Given the description of an element on the screen output the (x, y) to click on. 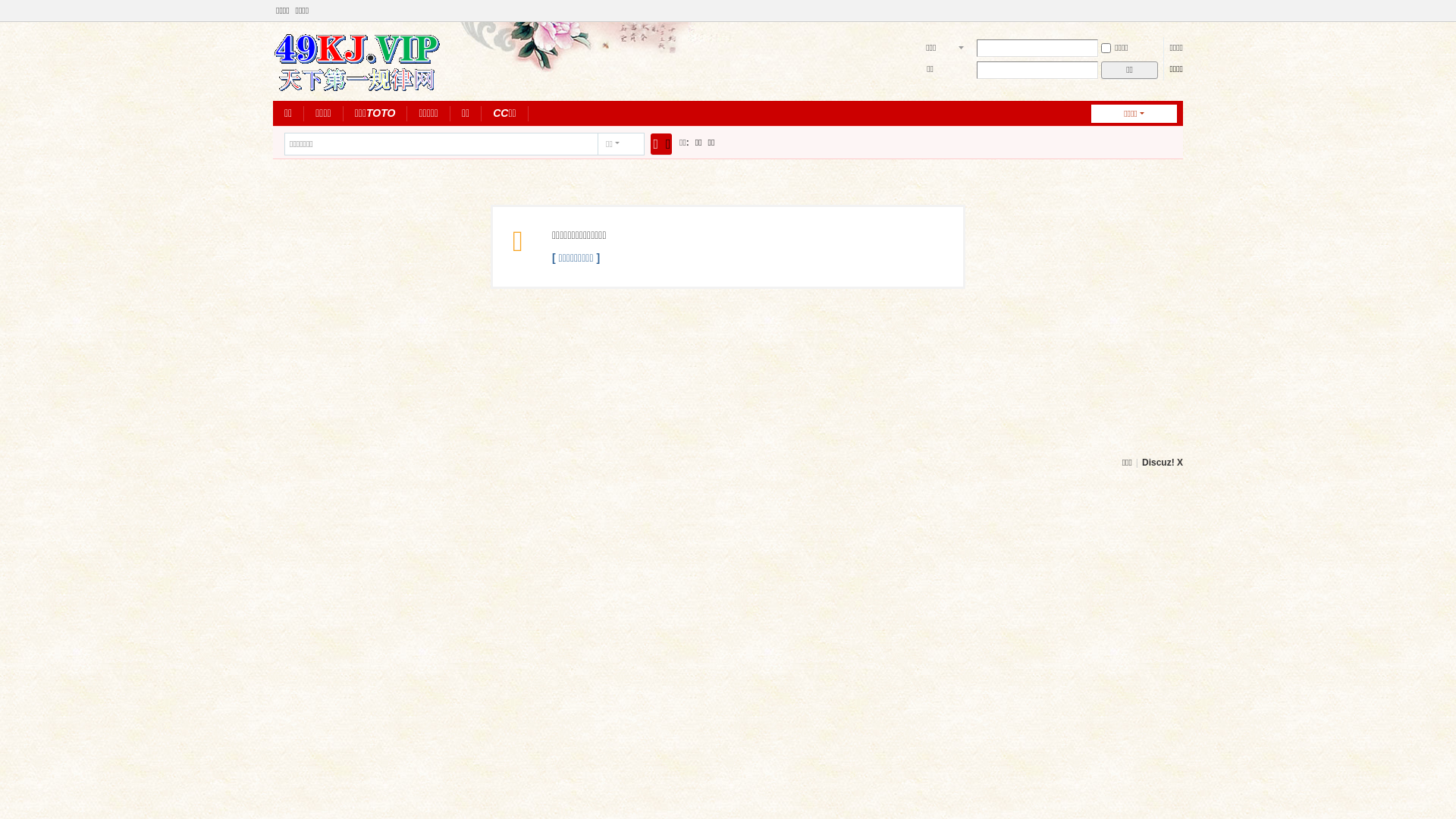
Discuz! X Element type: text (1162, 462)
Discuz! Board Element type: hover (357, 59)
